Given the description of an element on the screen output the (x, y) to click on. 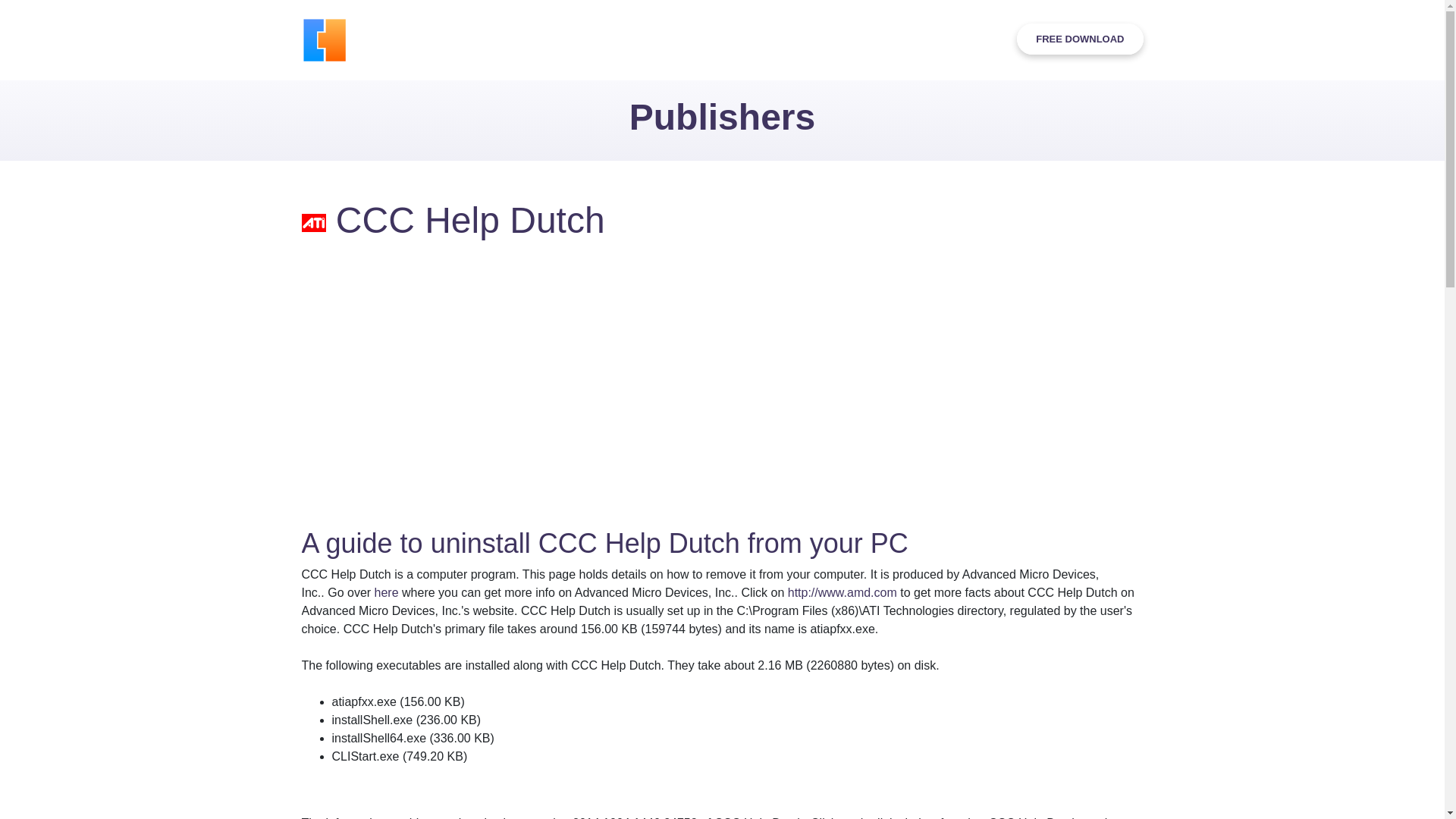
Contact (916, 39)
Testimonials (740, 39)
Video (611, 39)
Features (553, 39)
Features (553, 39)
FREE DOWNLOAD (1079, 38)
FREE DOWNLOAD (1079, 38)
Home (495, 39)
Pricing (810, 39)
Team (862, 39)
